Given the description of an element on the screen output the (x, y) to click on. 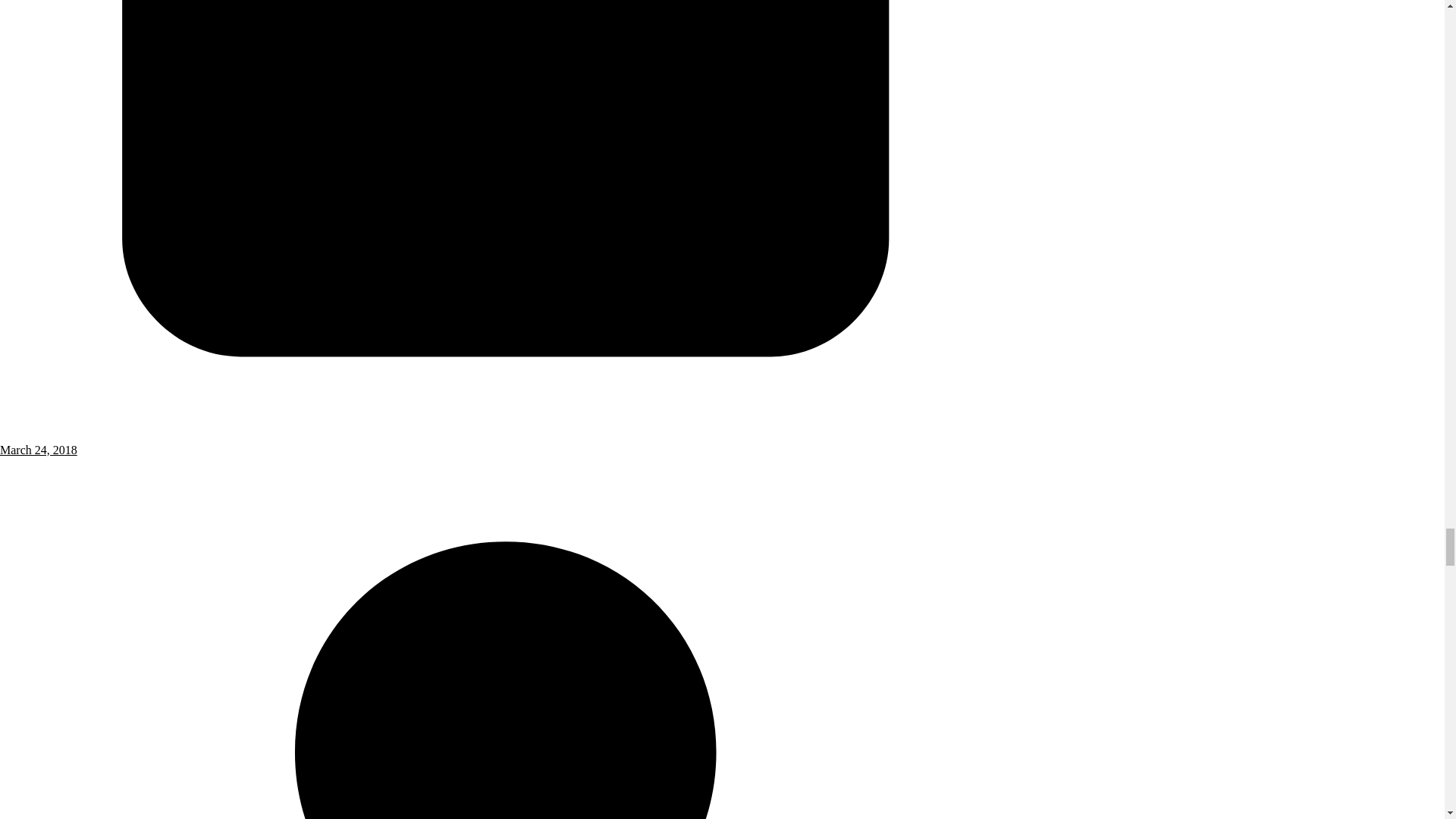
8:24 am (505, 442)
